Given the description of an element on the screen output the (x, y) to click on. 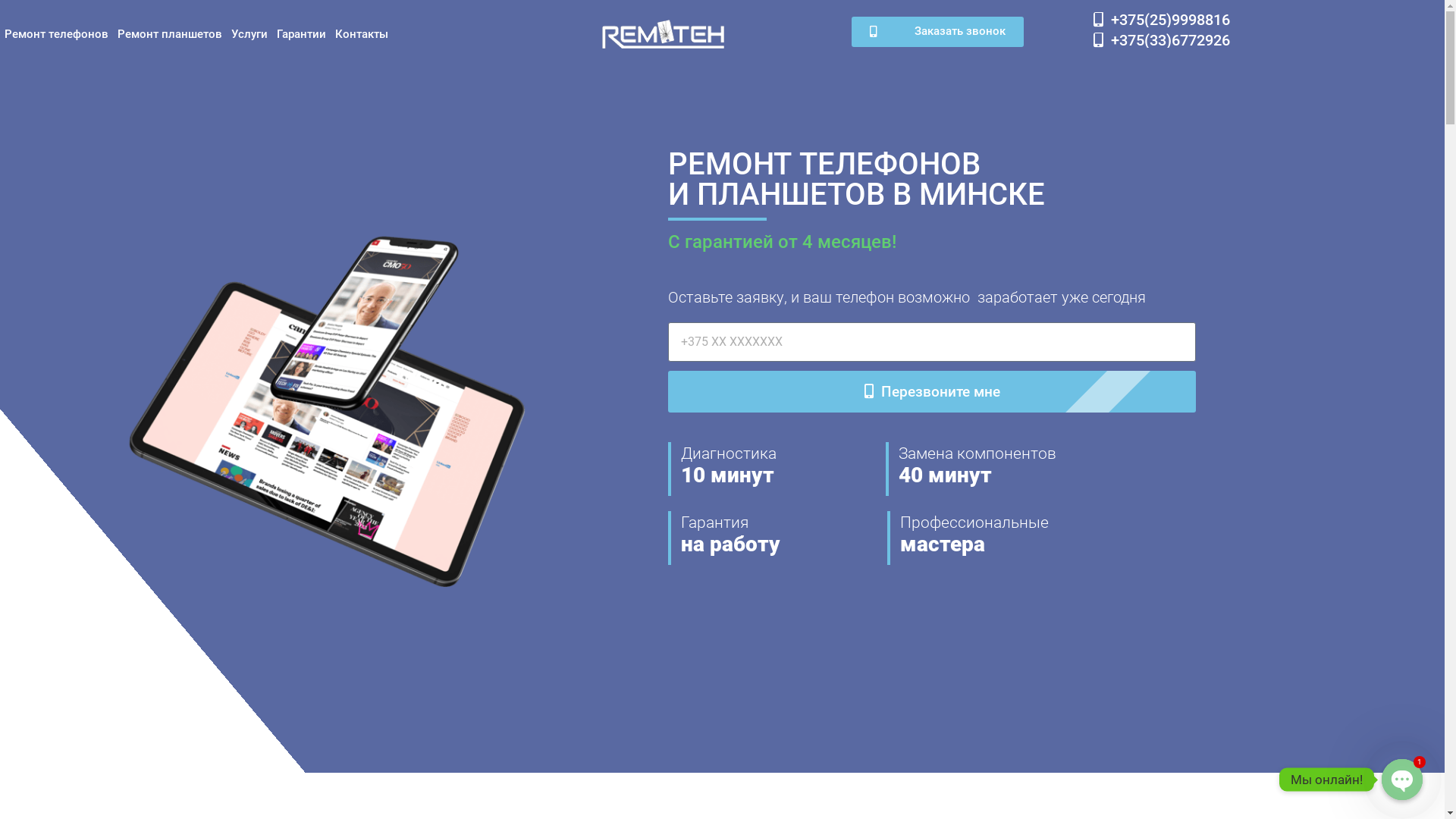
+375(25)9998816 Element type: text (1161, 19)
+375(33)6772926 Element type: text (1161, 39)
